Given the description of an element on the screen output the (x, y) to click on. 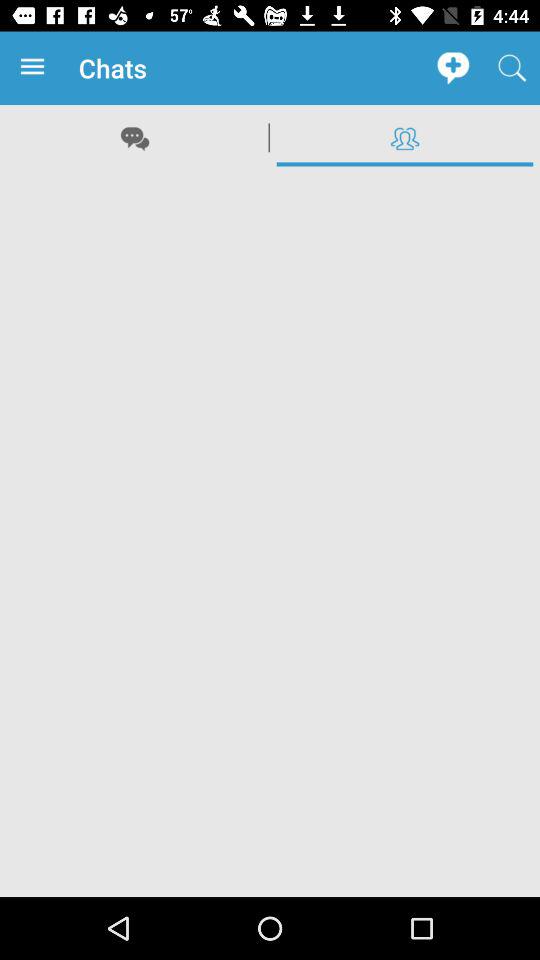
open app next to chats item (36, 68)
